Given the description of an element on the screen output the (x, y) to click on. 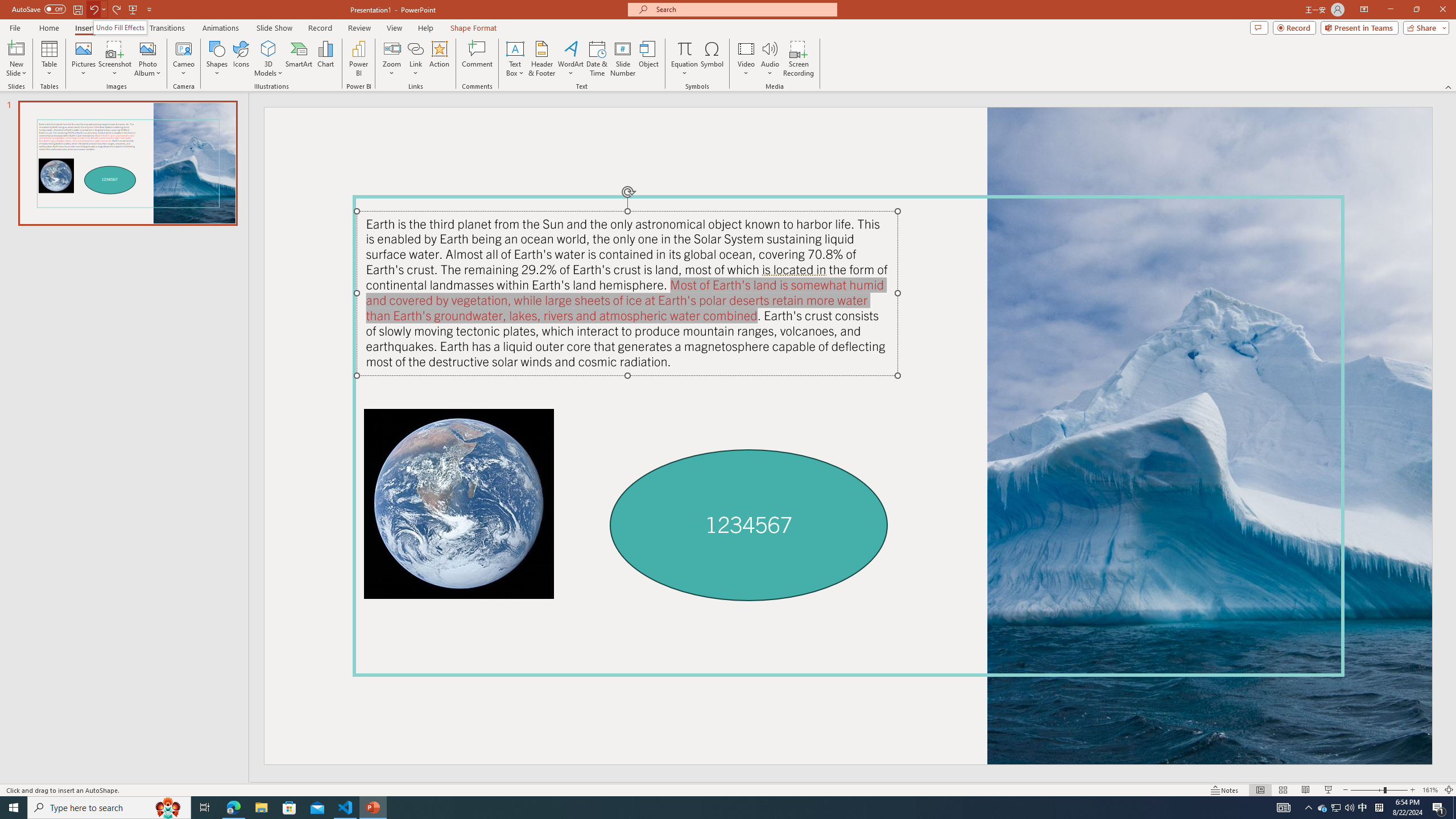
Icons (240, 58)
Screenshot (114, 58)
Header & Footer... (541, 58)
